Given the description of an element on the screen output the (x, y) to click on. 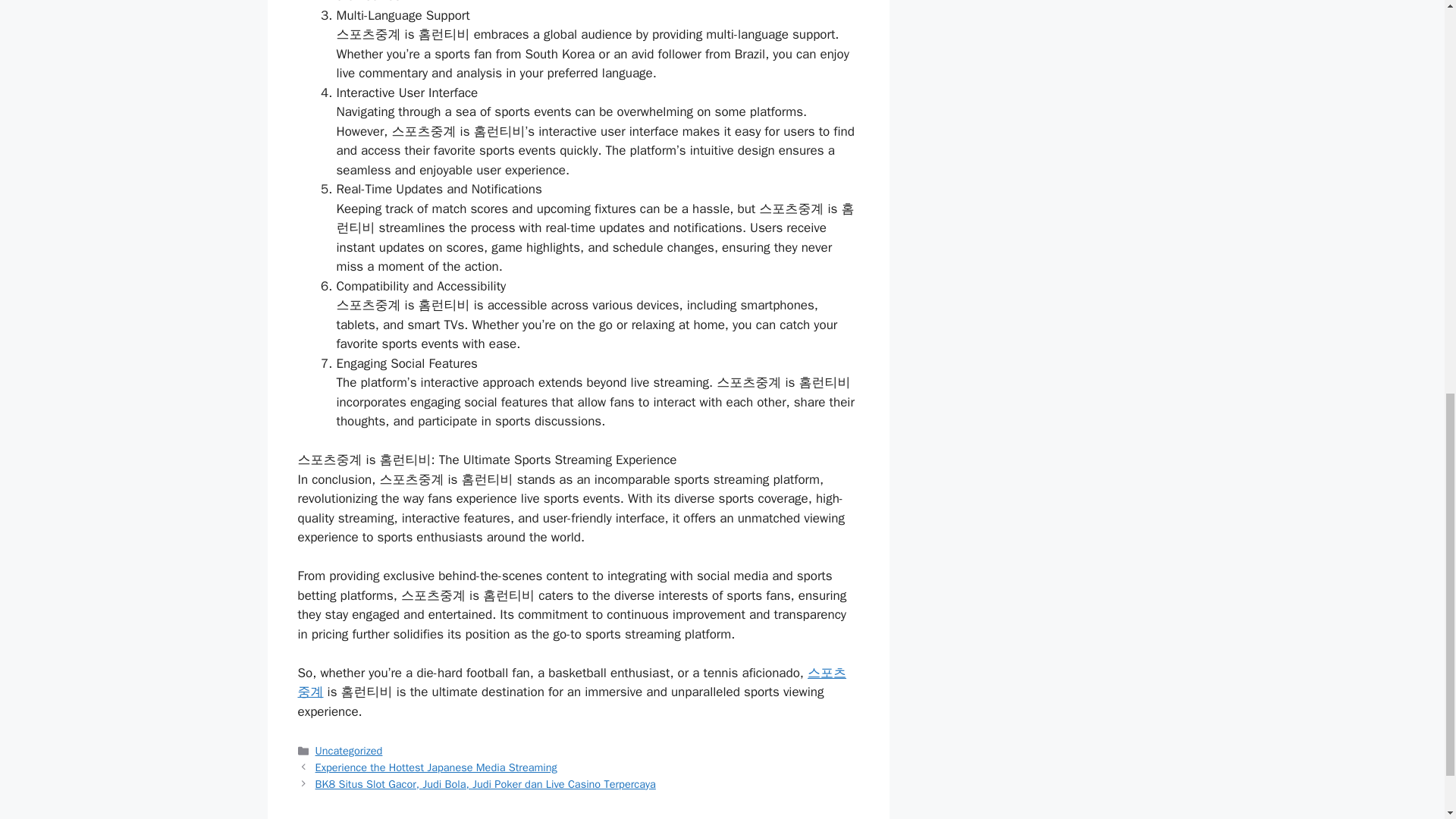
Experience the Hottest Japanese Media Streaming (436, 766)
Uncategorized (348, 750)
